Given the description of an element on the screen output the (x, y) to click on. 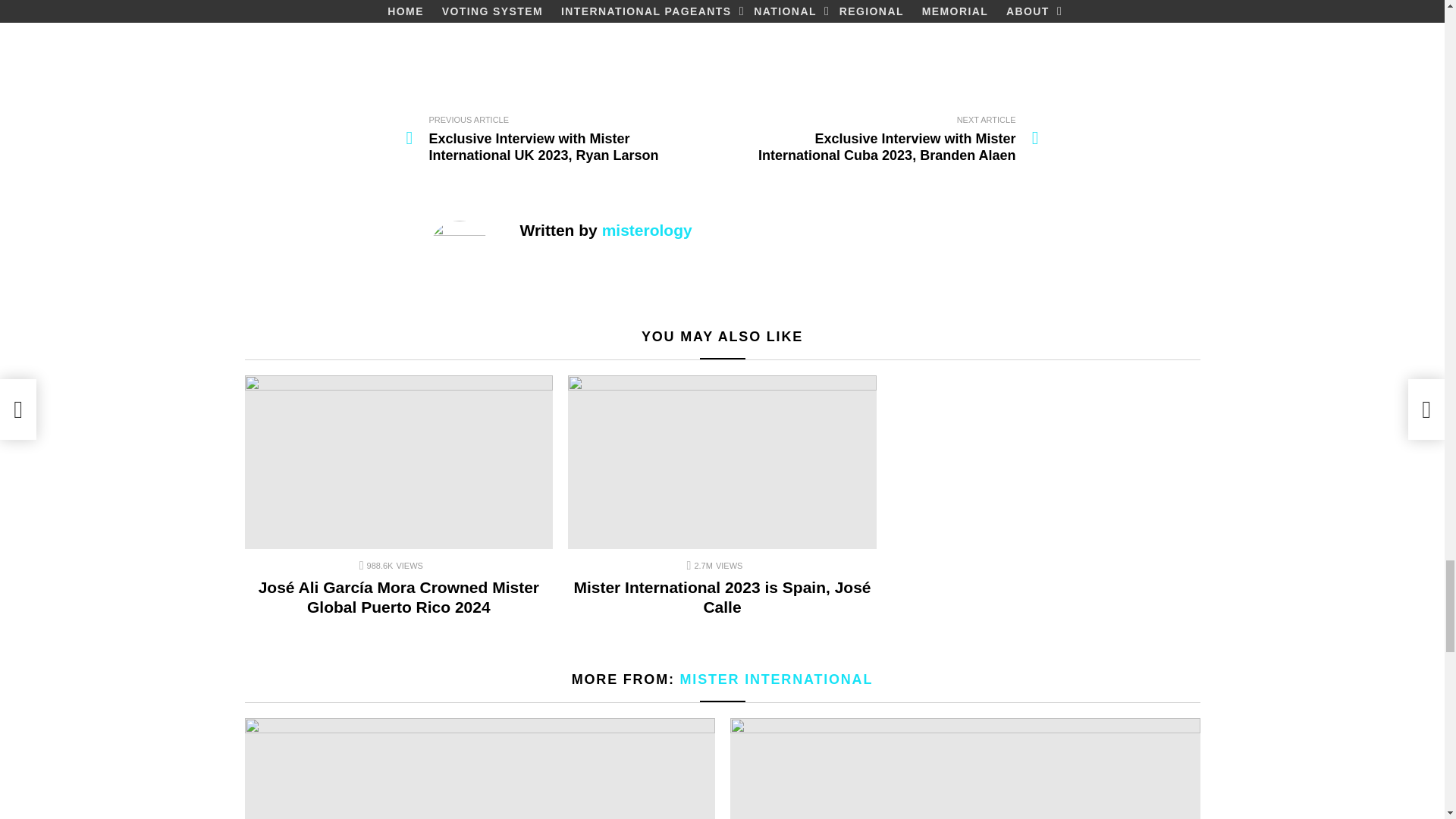
misterology (647, 230)
